Given the description of an element on the screen output the (x, y) to click on. 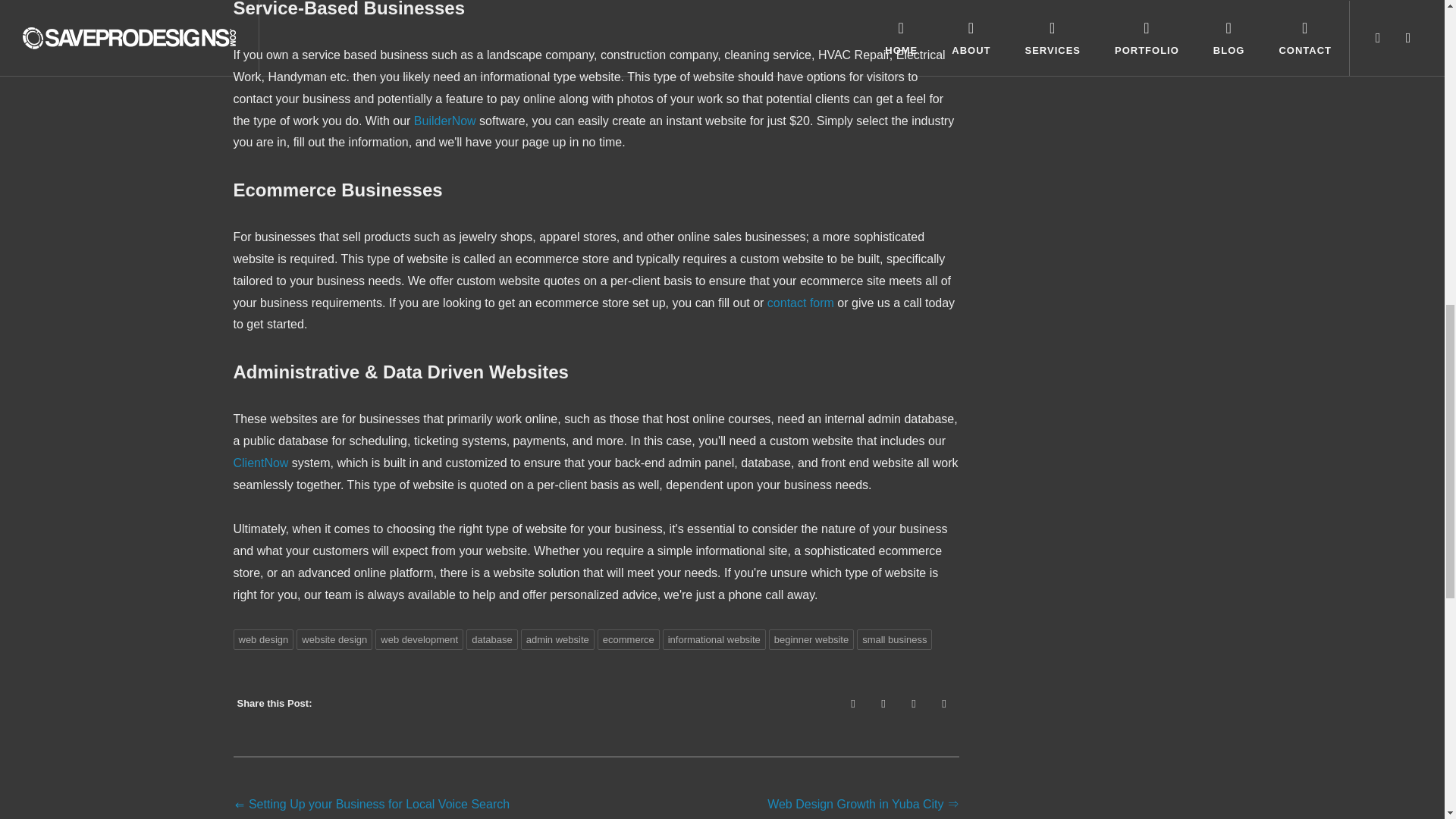
beginner website (810, 639)
web design (263, 639)
ClientNow (260, 462)
BuilderNow (444, 120)
website design (334, 639)
small business (894, 639)
contact form (800, 302)
web development (419, 639)
ecommerce (627, 639)
informational website (713, 639)
